Given the description of an element on the screen output the (x, y) to click on. 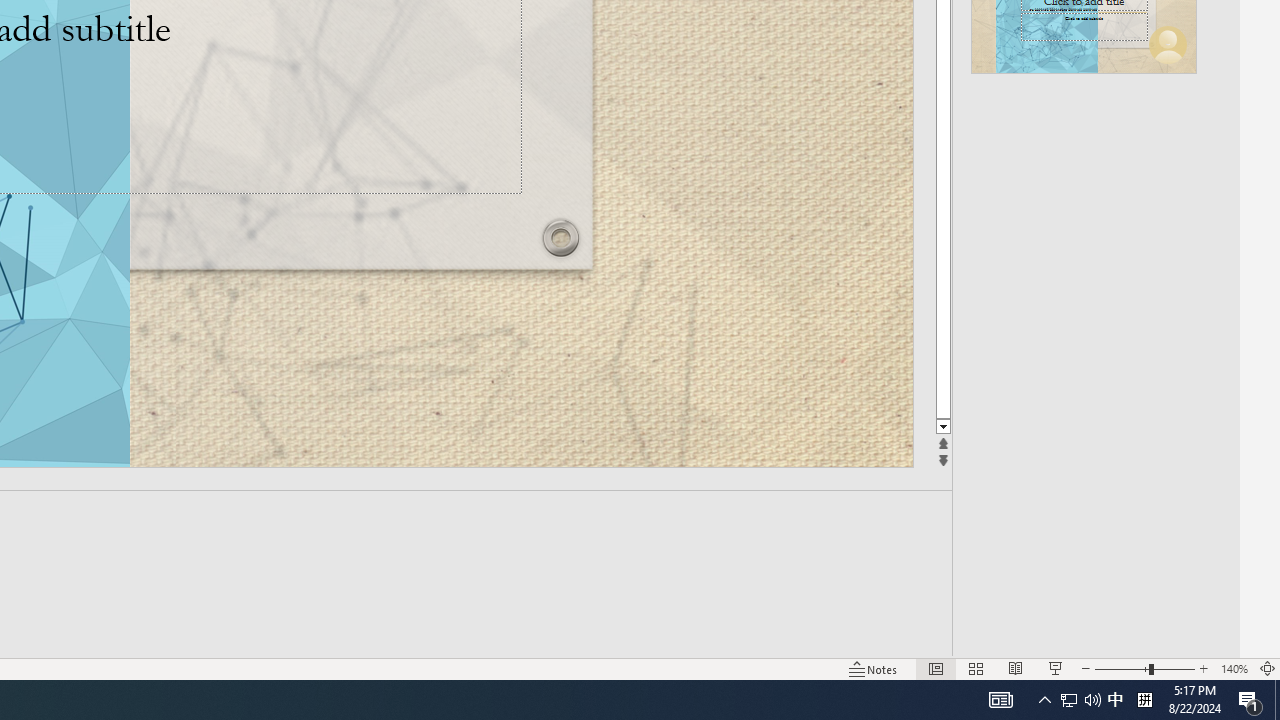
Zoom 140% (1234, 668)
